Given the description of an element on the screen output the (x, y) to click on. 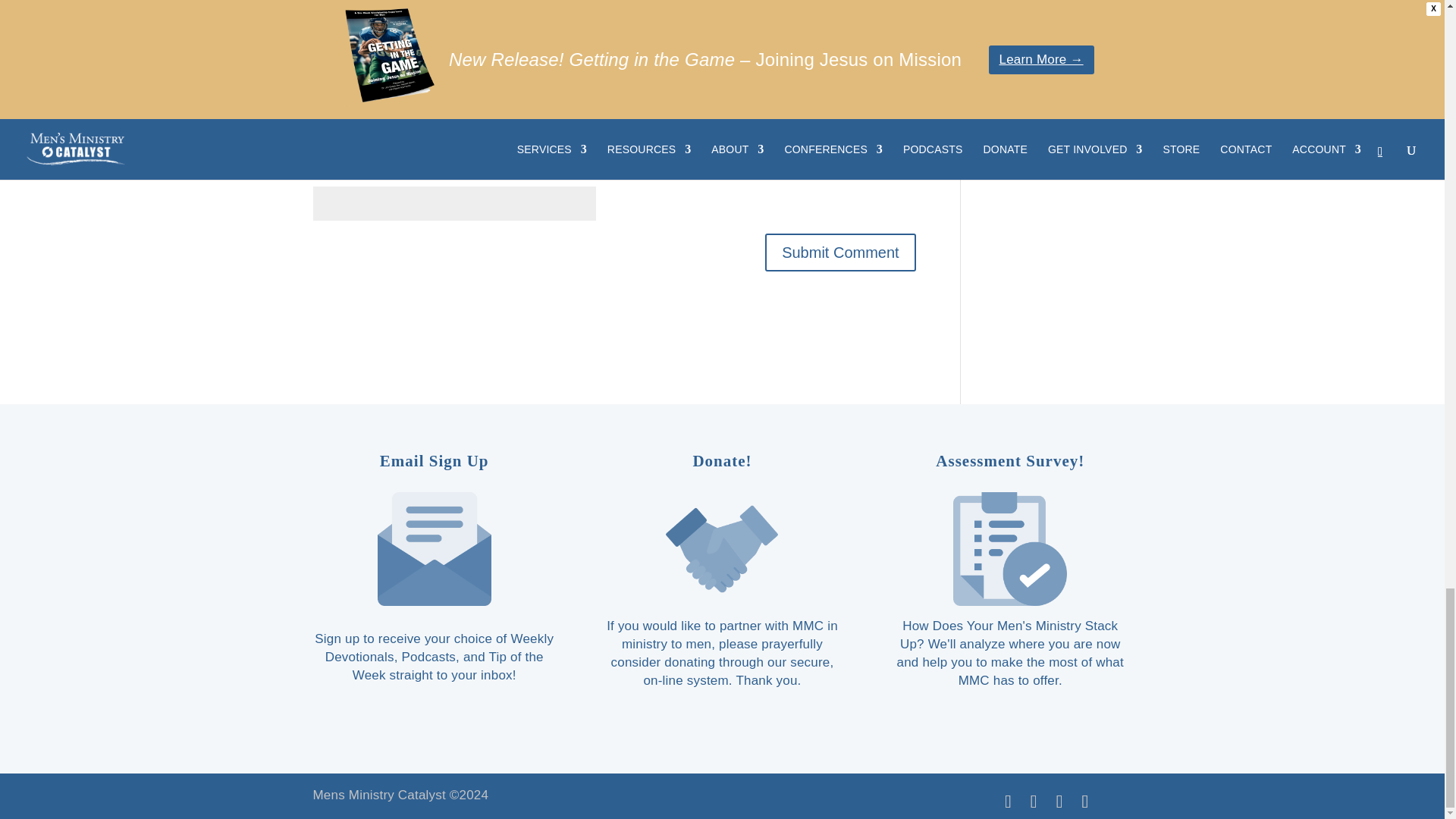
Submit Comment (840, 252)
